Given the description of an element on the screen output the (x, y) to click on. 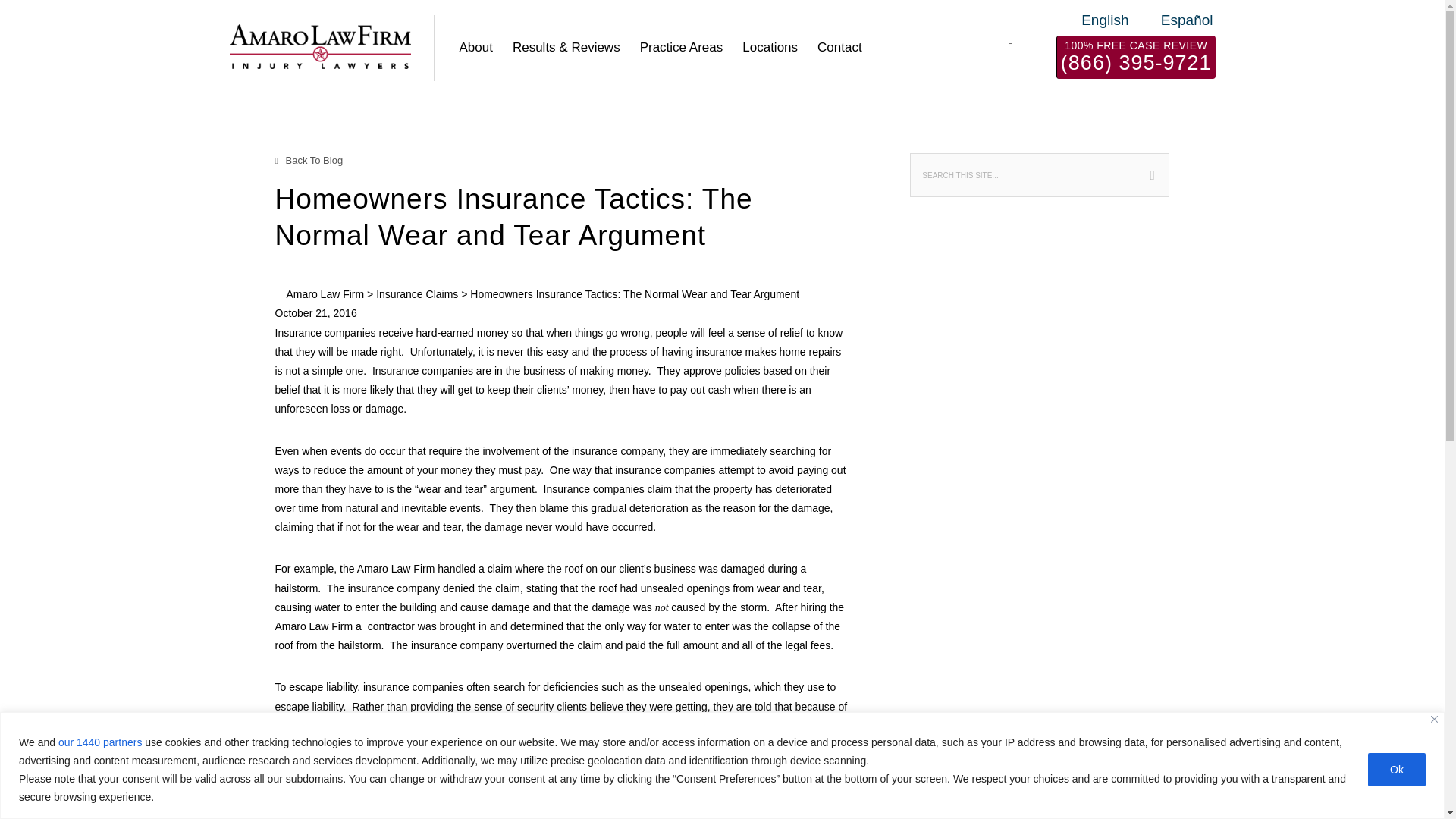
Spanish (1175, 19)
English (1093, 19)
Ok (1396, 768)
our 1440 partners (100, 741)
Go to the Insurance Claims Category archives. (416, 294)
Go to Amaro Law Firm. (325, 294)
